Given the description of an element on the screen output the (x, y) to click on. 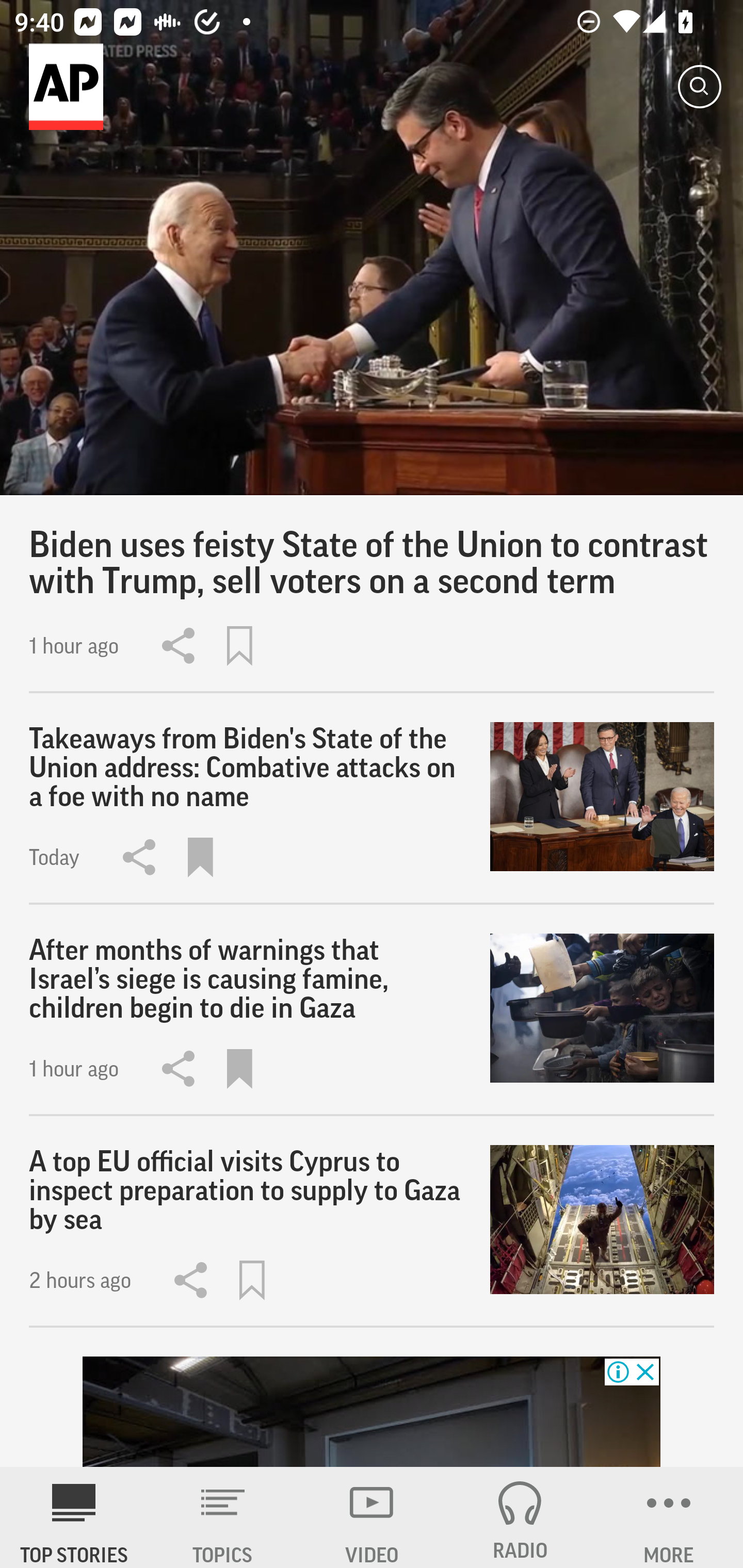
AP News TOP STORIES (74, 1517)
TOPICS (222, 1517)
VIDEO (371, 1517)
RADIO (519, 1517)
MORE (668, 1517)
